Given the description of an element on the screen output the (x, y) to click on. 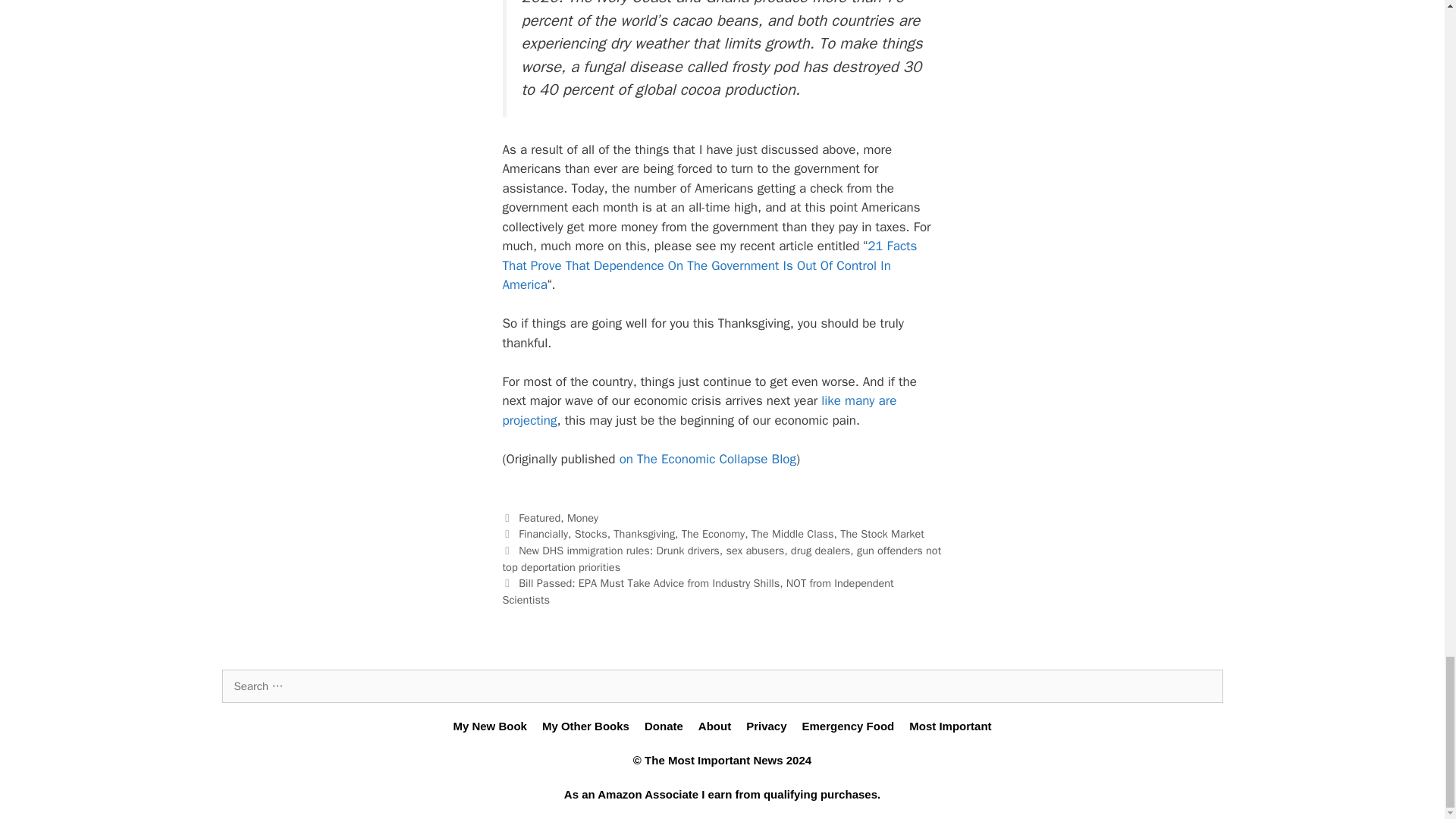
like many are projecting (699, 410)
The Middle Class (792, 533)
on The Economic Collapse Blog (708, 458)
Featured (539, 517)
Thanksgiving (643, 533)
The Stock Market (882, 533)
The Economy (712, 533)
